Given the description of an element on the screen output the (x, y) to click on. 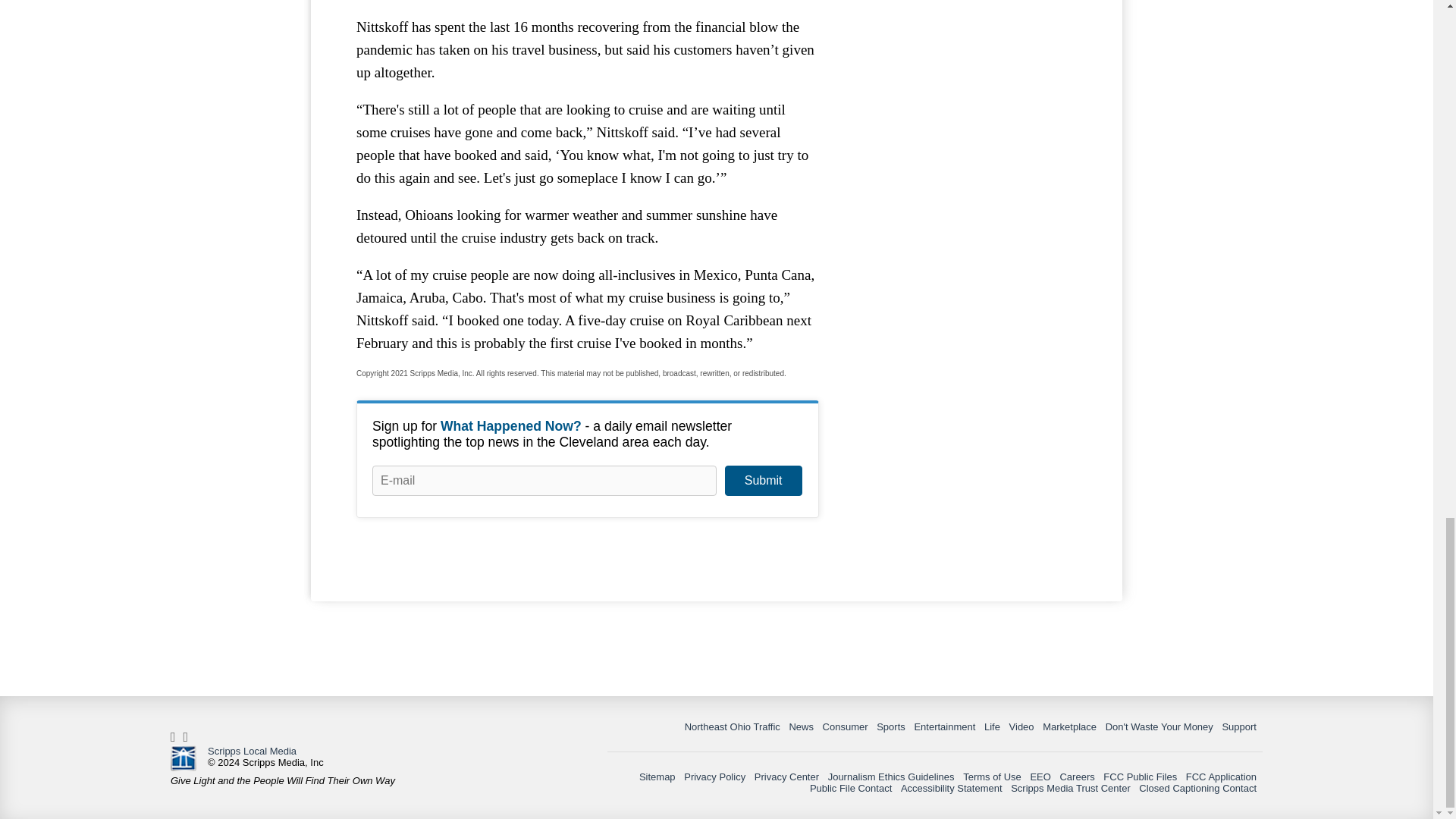
Submit (763, 481)
